Given the description of an element on the screen output the (x, y) to click on. 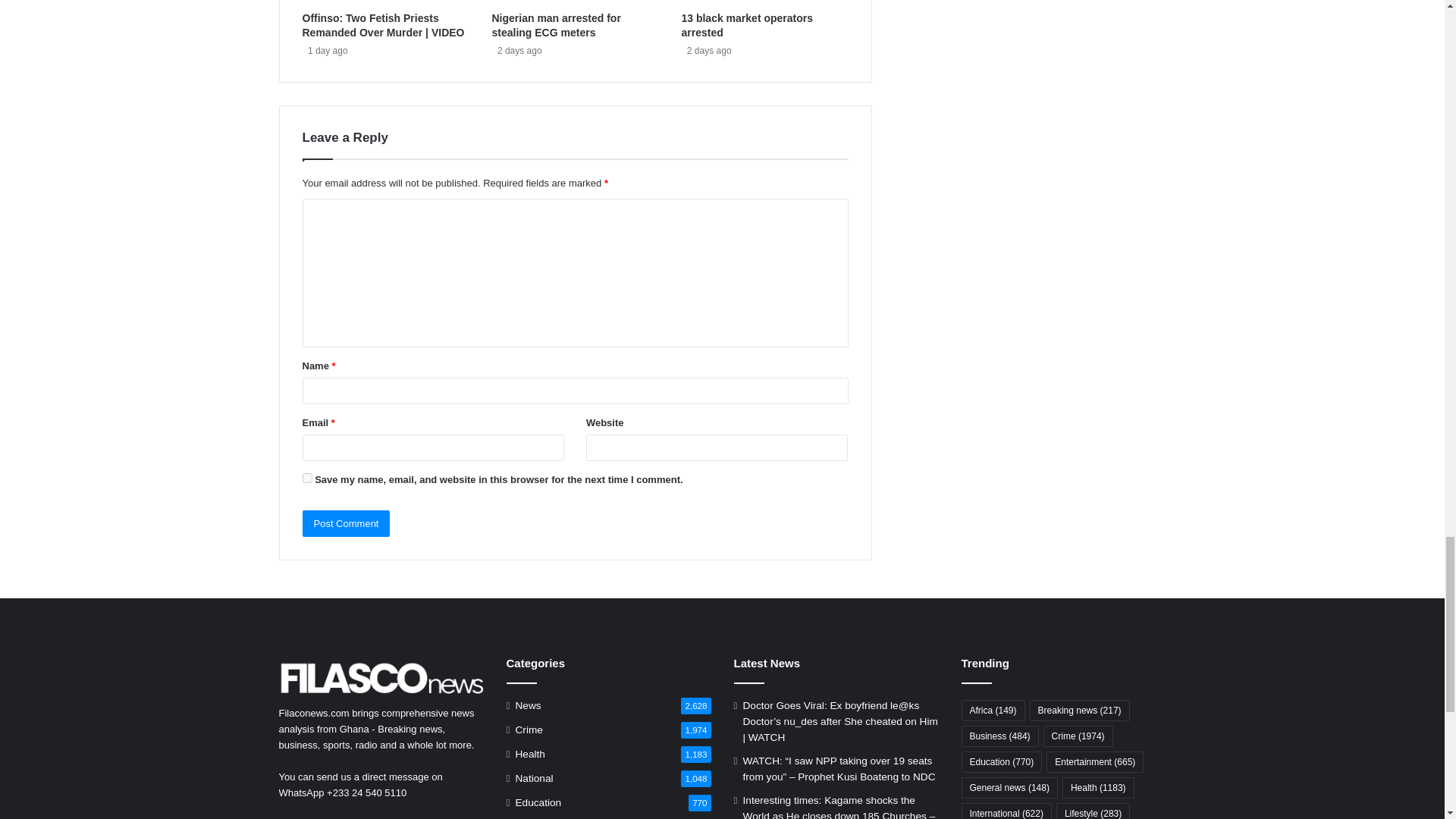
Post Comment (345, 523)
yes (306, 478)
